Given the description of an element on the screen output the (x, y) to click on. 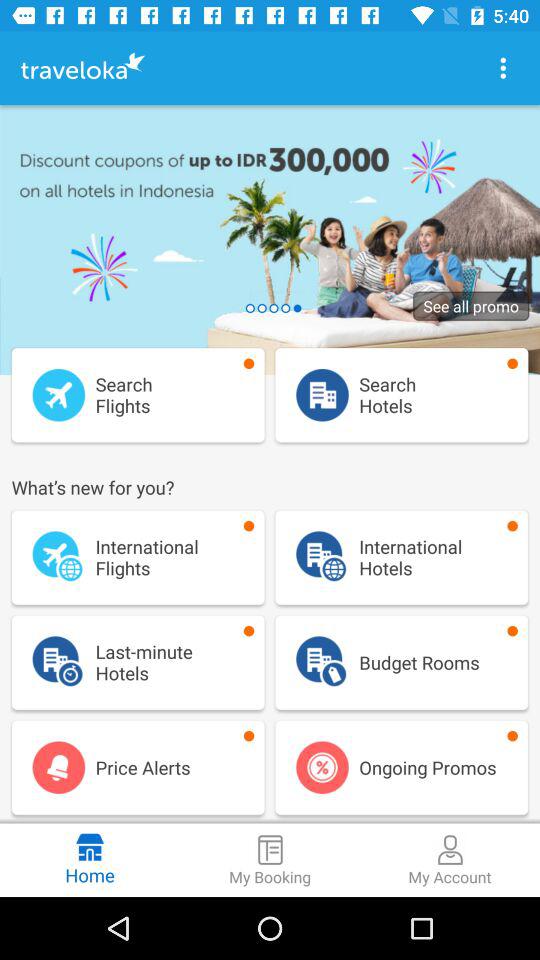
list menu (503, 68)
